Given the description of an element on the screen output the (x, y) to click on. 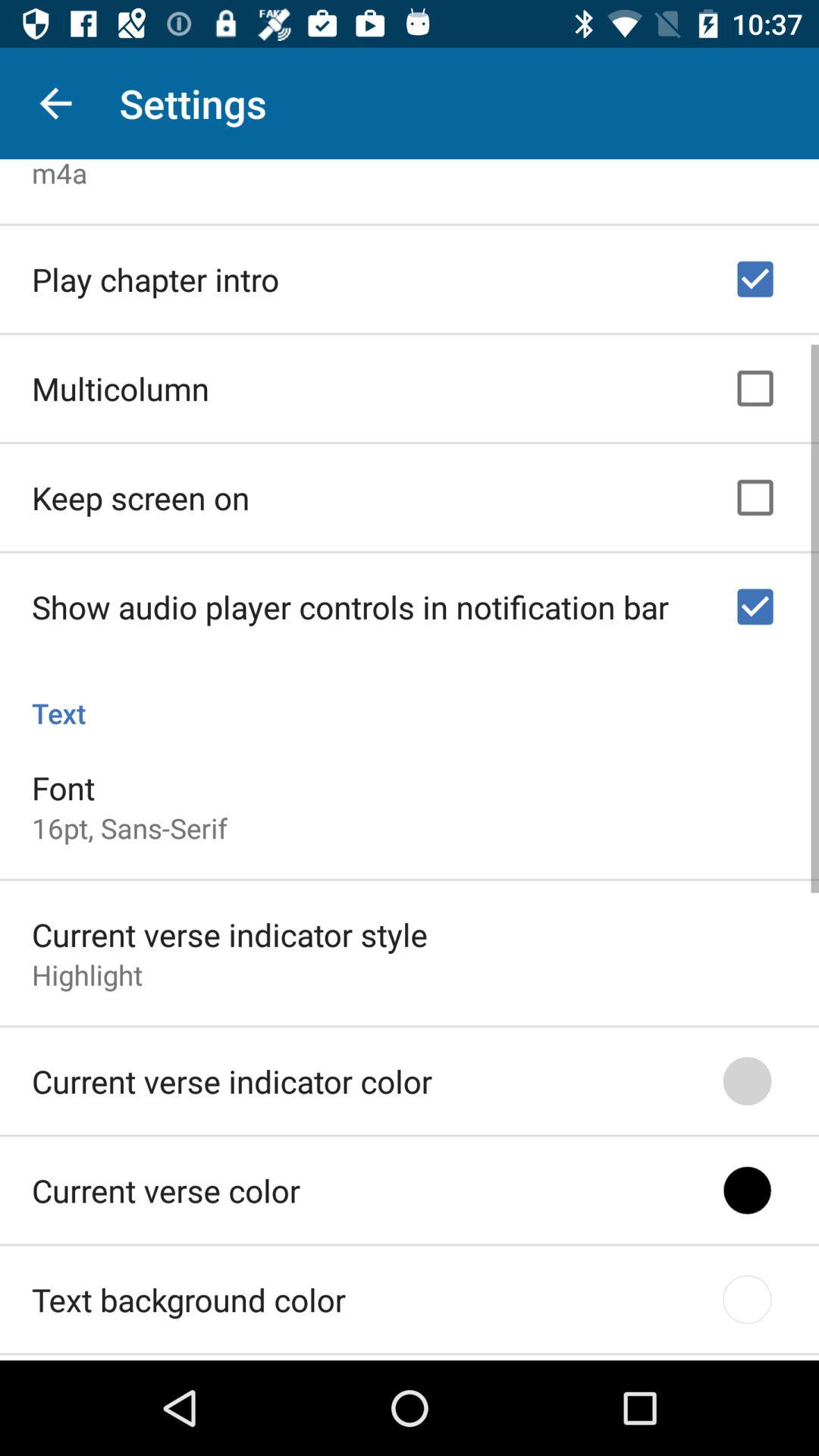
choose the item below the m4a icon (155, 274)
